Given the description of an element on the screen output the (x, y) to click on. 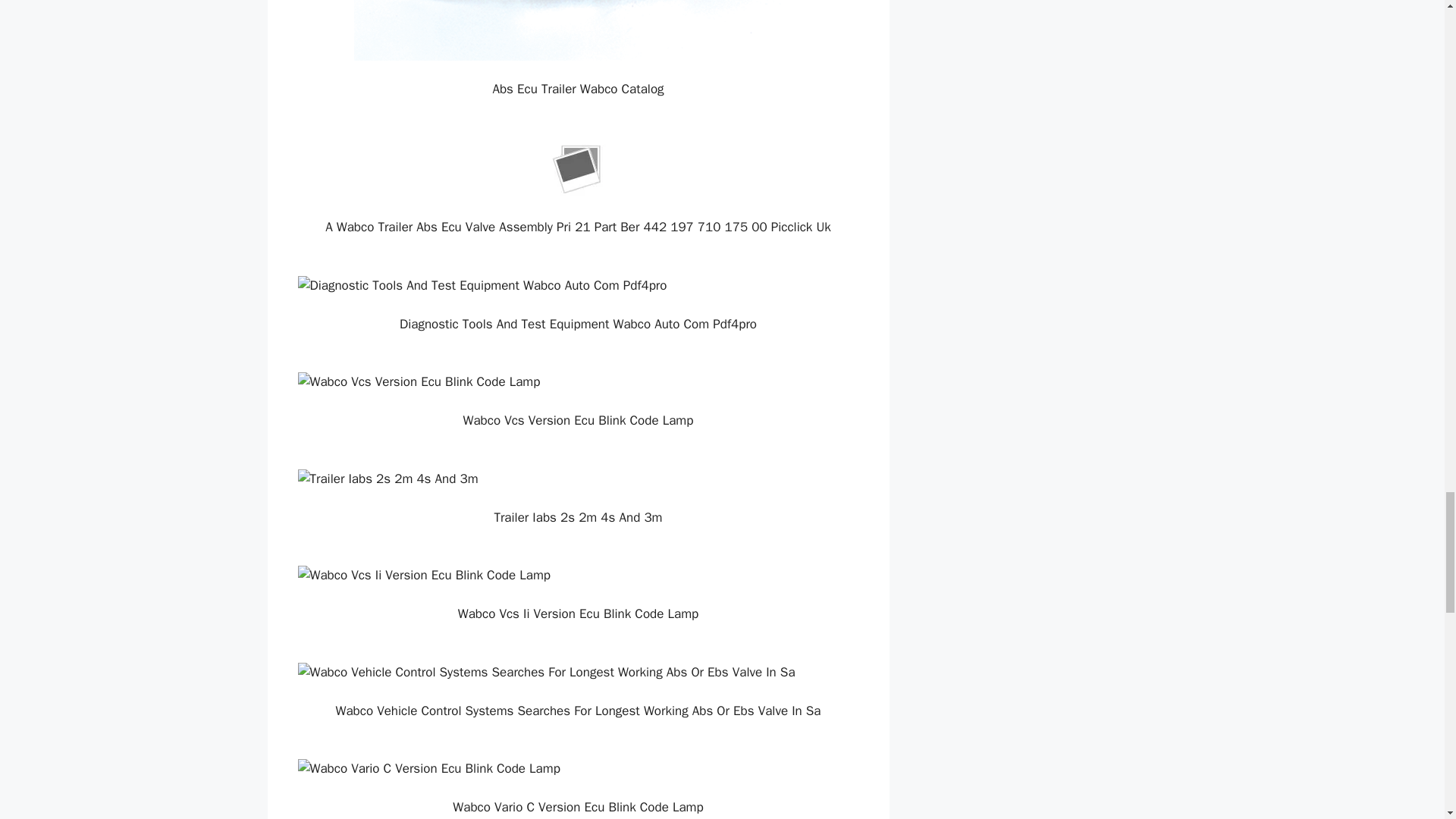
Trailer Iabs 2s 2m 4s And 3m (578, 478)
Wabco Vcs Version Ecu Blink Code Lamp (578, 382)
Abs Ecu Trailer Wabco Catalog (577, 30)
Wabco Vcs Ii Version Ecu Blink Code Lamp (578, 575)
Diagnostic Tools And Test Equipment Wabco Auto Com Pdf4pro (578, 285)
